Given the description of an element on the screen output the (x, y) to click on. 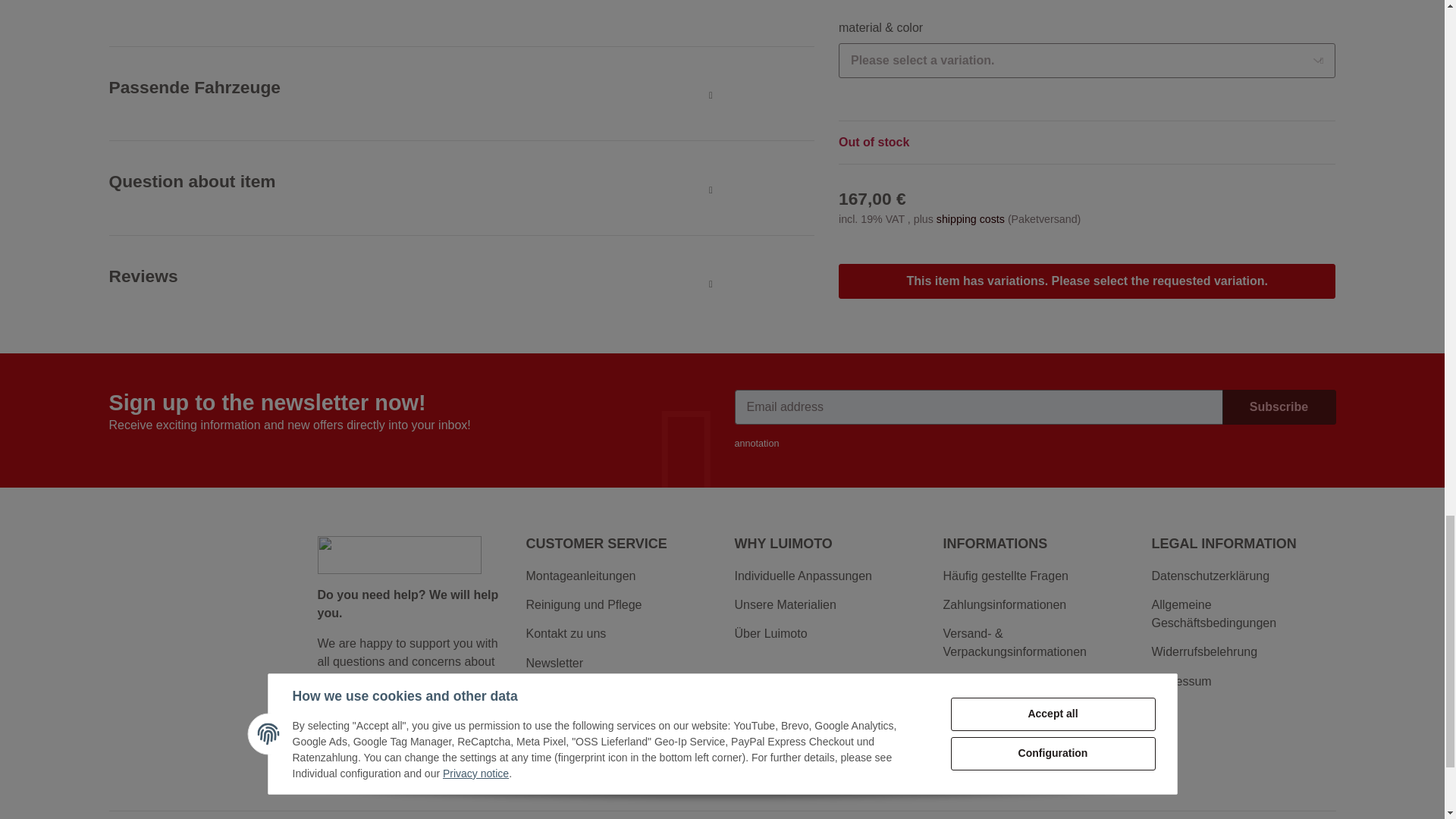
Reinigung und Pflege (617, 604)
Montageanleitungen (617, 576)
Subscribe (1279, 407)
